Given the description of an element on the screen output the (x, y) to click on. 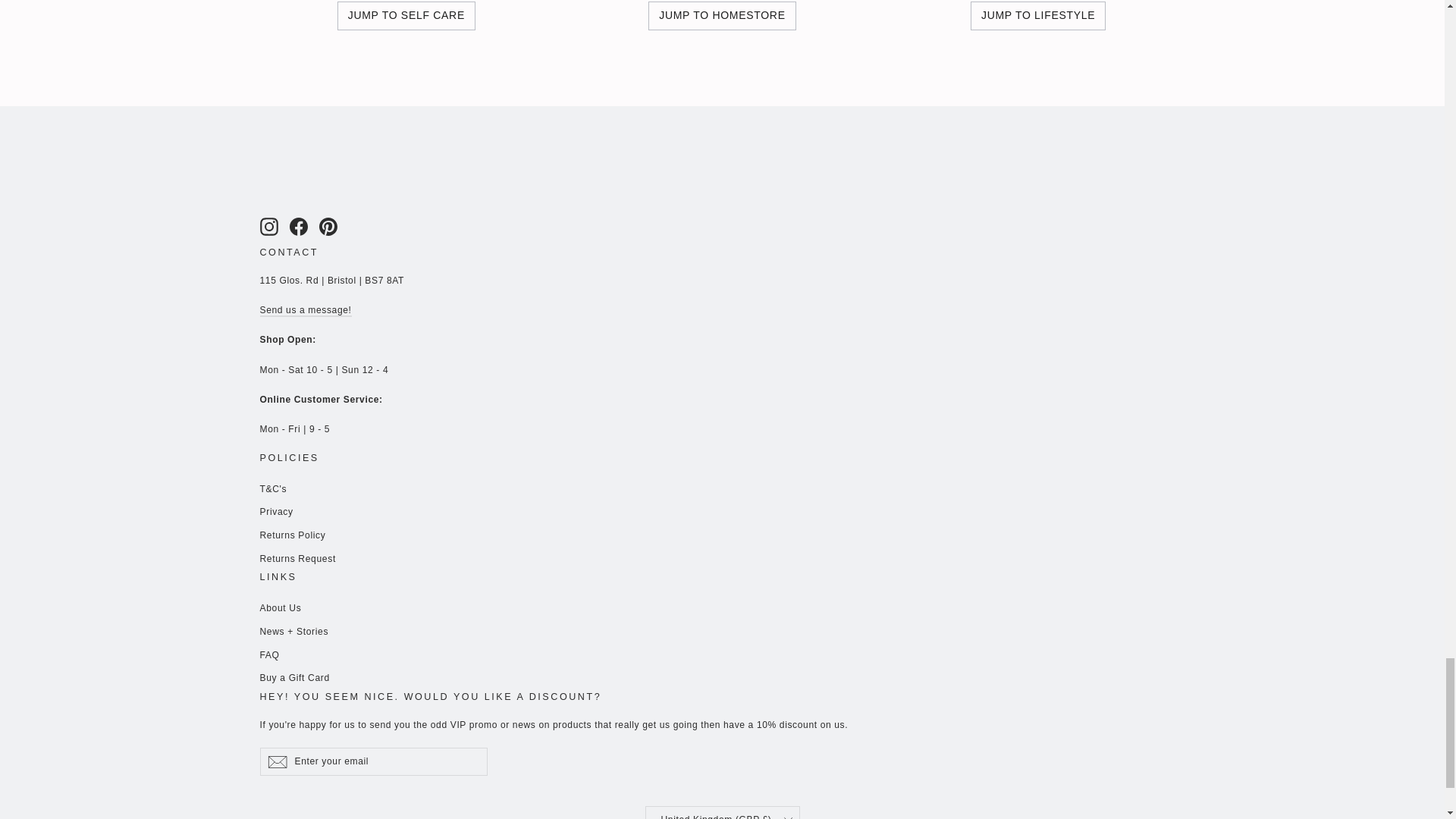
USTUDIO on Instagram (268, 226)
instagram (268, 226)
icon-email (276, 761)
USTUDIO on Pinterest (327, 226)
USTUDIO on Facebook (298, 226)
Contact USTUDIO (304, 310)
